Given the description of an element on the screen output the (x, y) to click on. 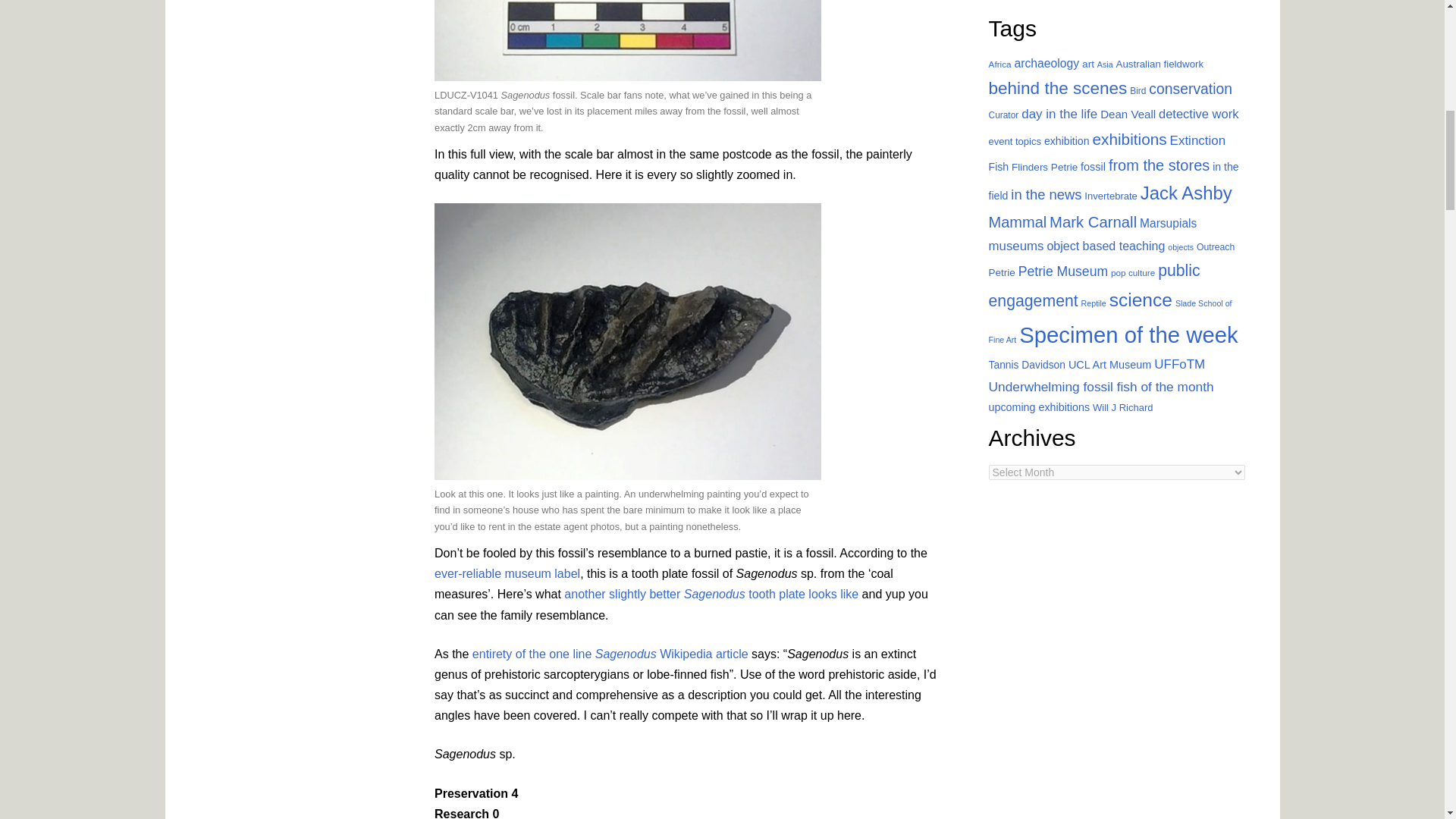
entirety of the one line Sagenodus Wikipedia article (609, 653)
ever-reliable museum label (506, 573)
another slightly better Sagenodus tooth plate looks like (711, 594)
